Given the description of an element on the screen output the (x, y) to click on. 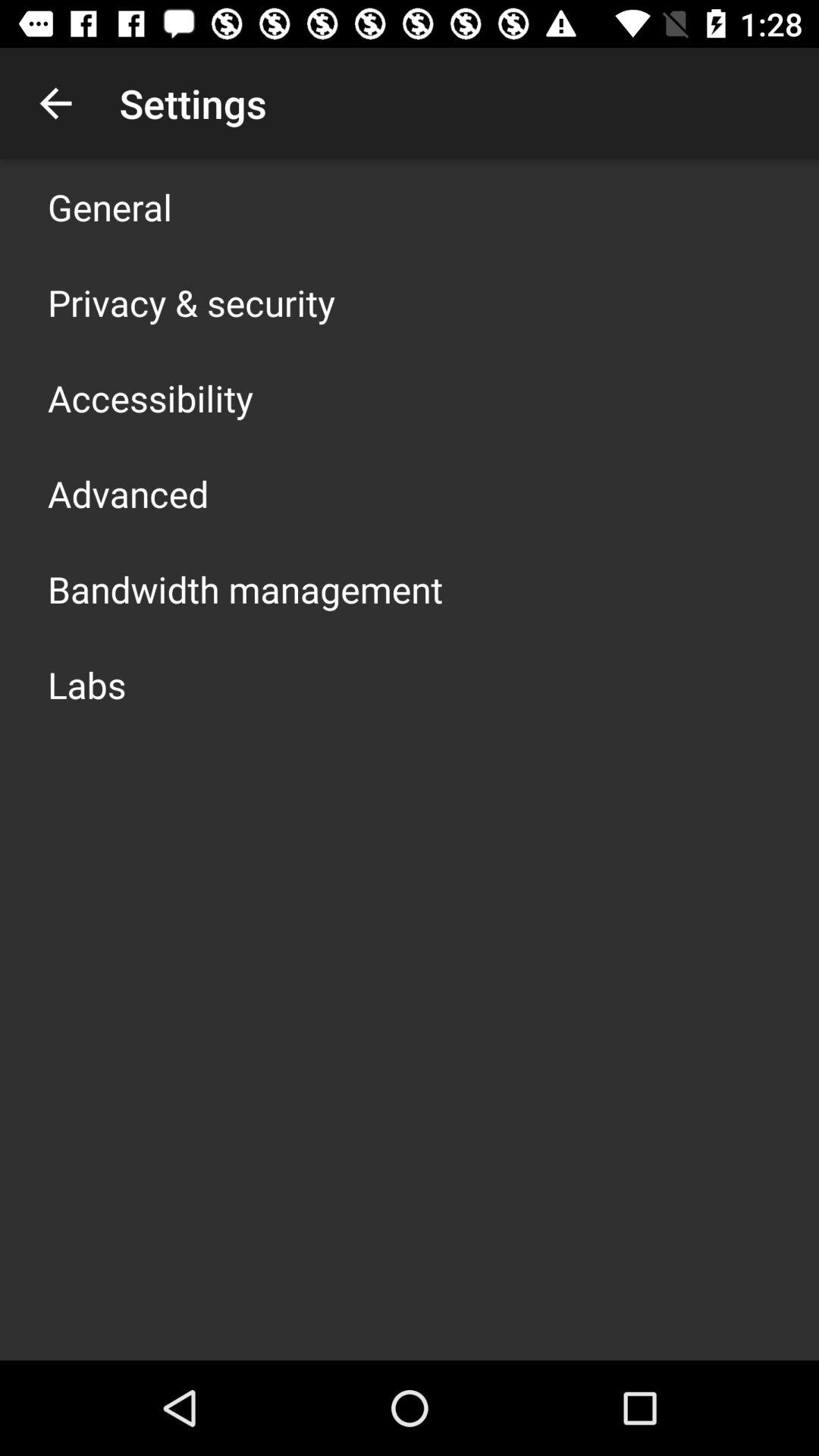
press item above the general app (55, 103)
